Given the description of an element on the screen output the (x, y) to click on. 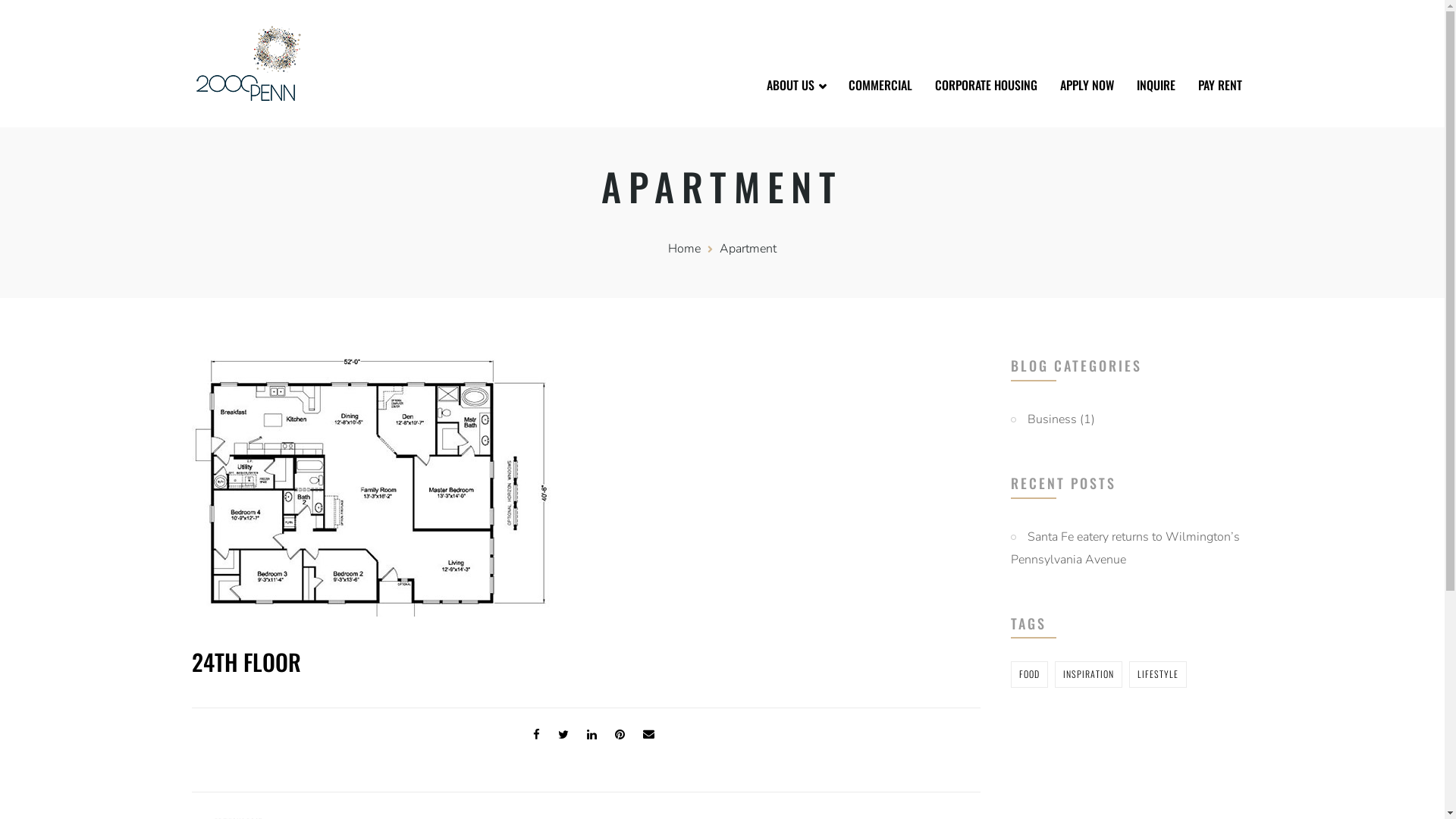
COMMERCIAL Element type: text (880, 84)
LIFESTYLE Element type: text (1157, 674)
CORPORATE HOUSING Element type: text (985, 84)
ABOUT US Element type: text (796, 85)
FOOD Element type: text (1028, 674)
Email to a Friend Element type: hover (648, 734)
Share on LinkedIn Element type: hover (591, 734)
Share on Pinterest Element type: hover (619, 734)
Share on Twitter Element type: hover (563, 734)
Apartment Element type: text (747, 248)
INQUIRE Element type: text (1155, 84)
INSPIRATION Element type: text (1087, 674)
Business Element type: text (1043, 418)
PAY RENT Element type: text (1219, 84)
Home Element type: text (684, 248)
APPLY NOW Element type: text (1086, 84)
Share on facebook Element type: hover (535, 734)
